Given the description of an element on the screen output the (x, y) to click on. 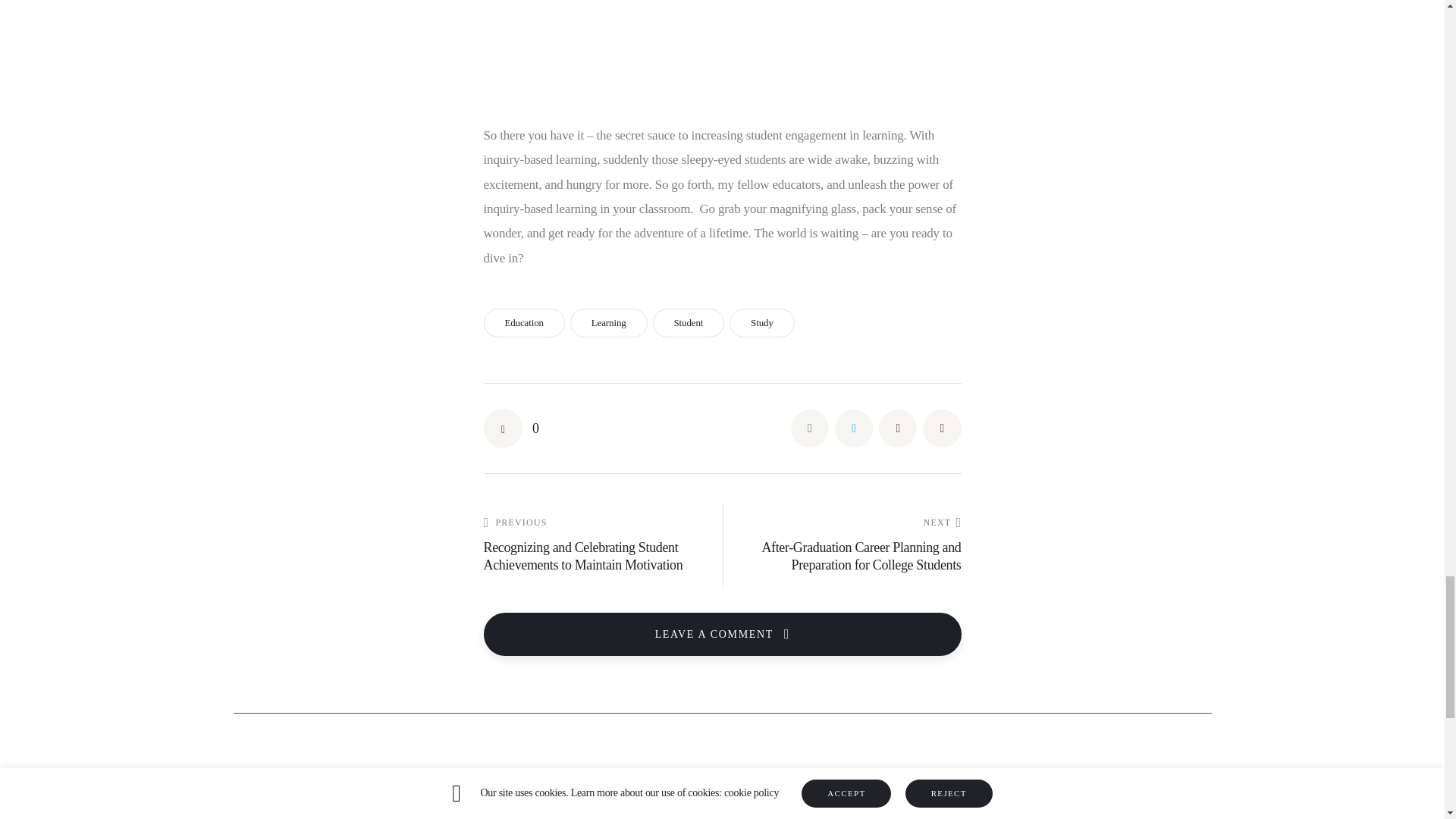
Study (761, 322)
Like (511, 427)
0 (511, 427)
Copy URL to clipboard (941, 428)
Learning (608, 322)
Student (688, 322)
Education (523, 322)
How to Manage Test Anxiety and Boost Your Confidence (604, 815)
LEAVE A COMMENT (721, 634)
